Given the description of an element on the screen output the (x, y) to click on. 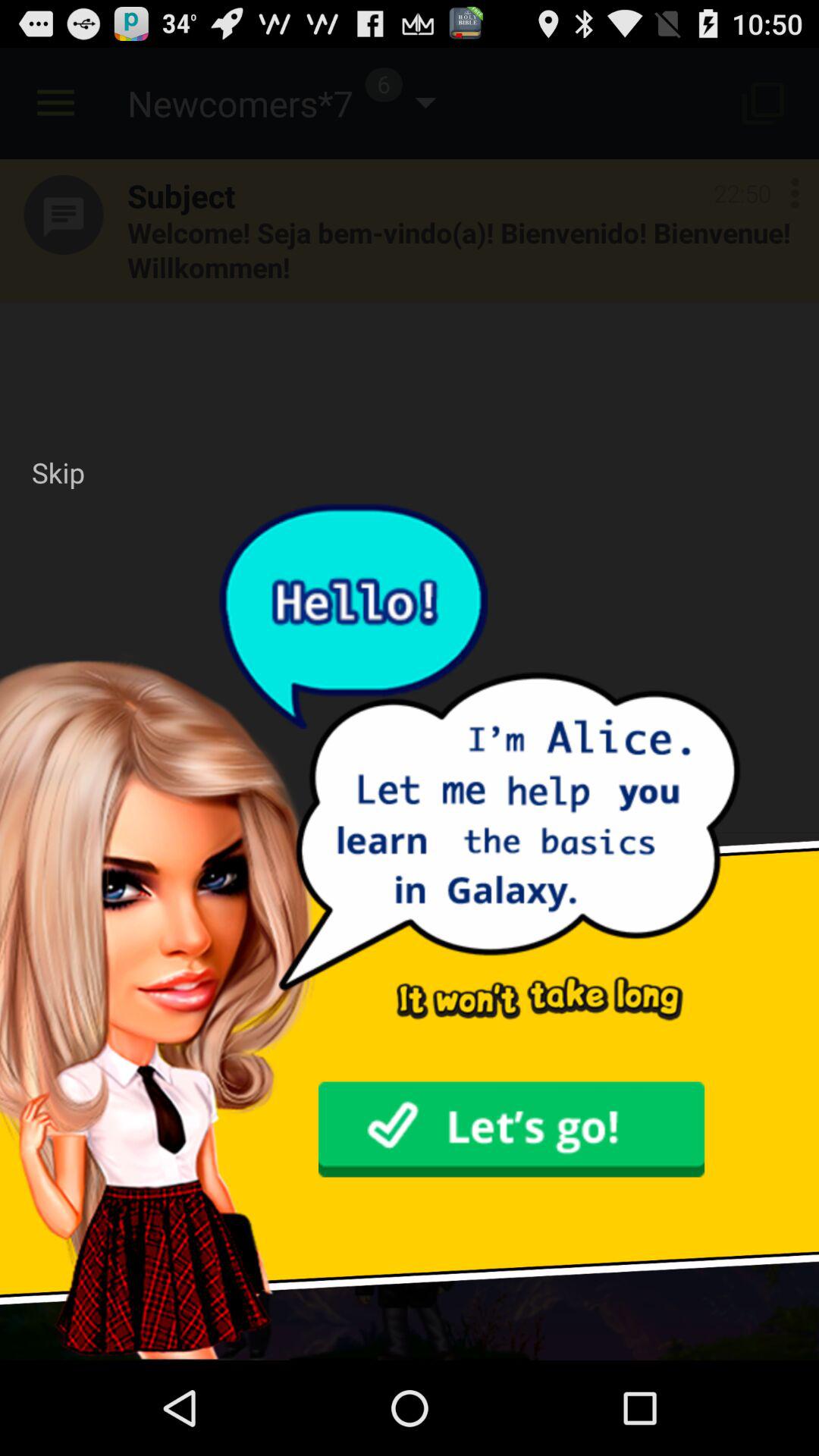
launch skip (57, 472)
